Given the description of an element on the screen output the (x, y) to click on. 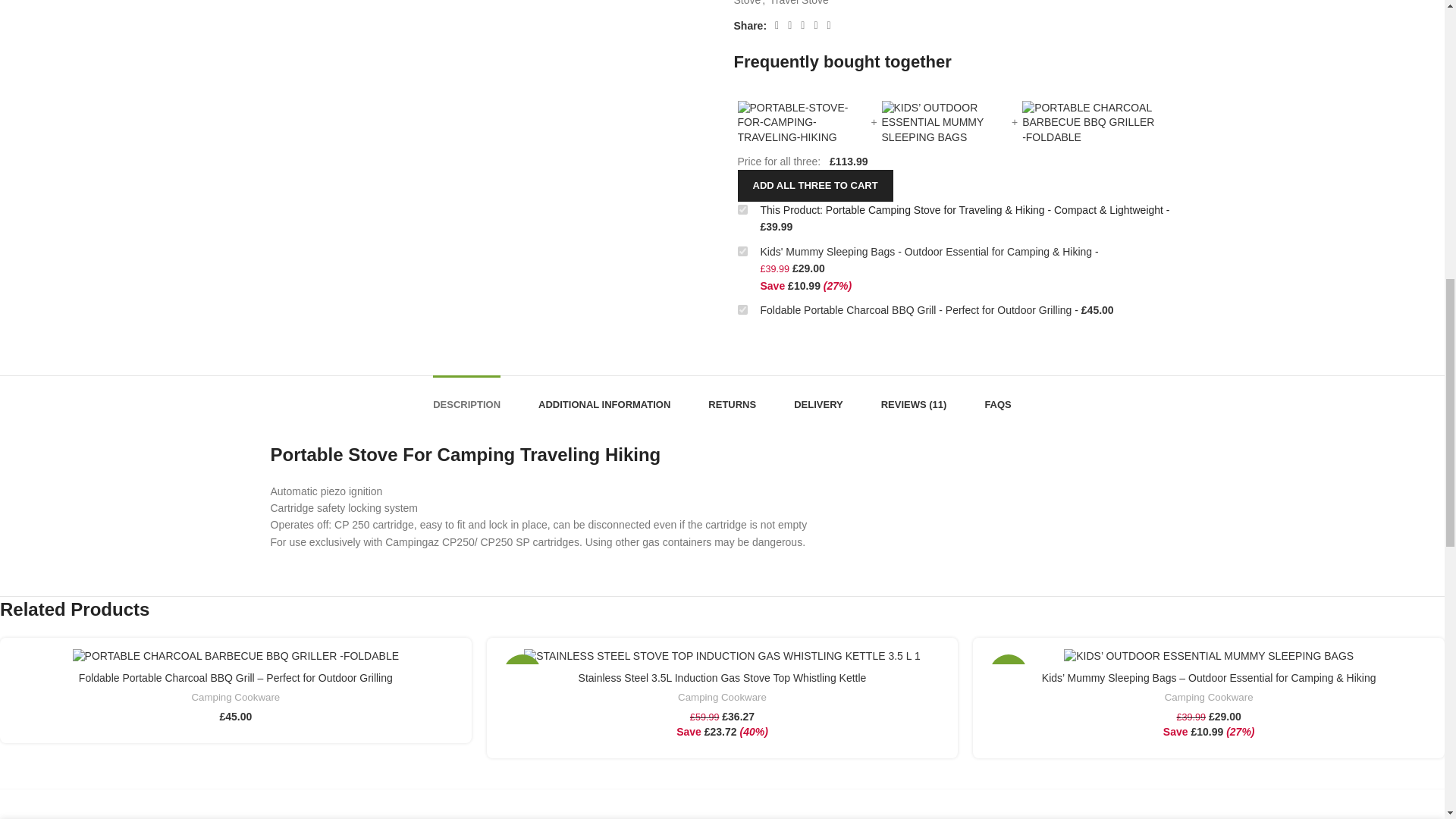
1112 (741, 251)
1326 (741, 309)
Add all three to Cart (814, 185)
1334 (741, 209)
